Given the description of an element on the screen output the (x, y) to click on. 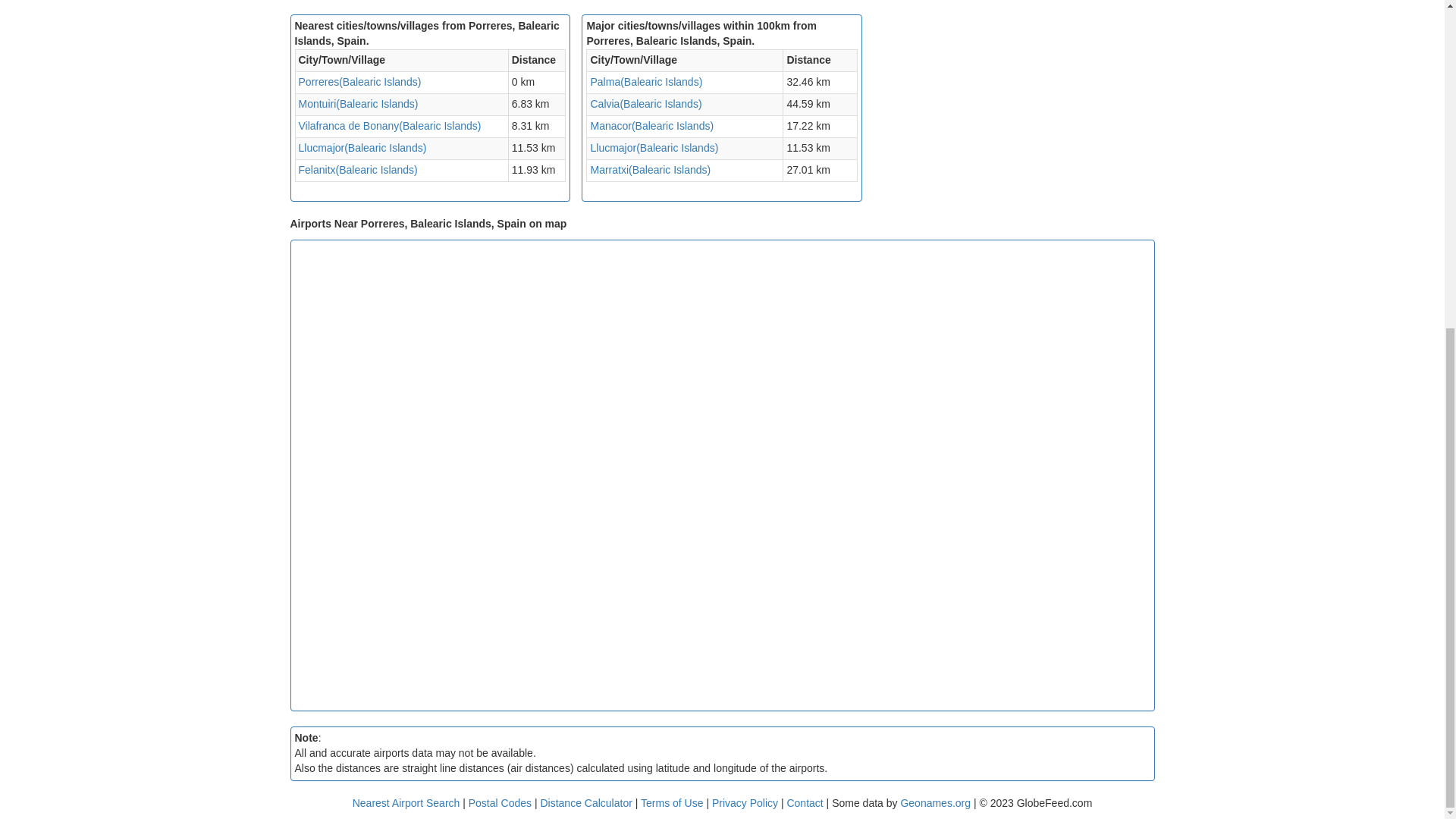
Airports near Montuiri, Balearic Islands, Spain (358, 103)
Privacy Policy (745, 802)
Airports near Palma, Balearic Islands, Spain (645, 81)
Airports near Manacor, Balearic Islands, Spain (651, 125)
Airports near Porreres, Balearic Islands, Spain (360, 81)
Airports near Llucmajor, Balearic Islands, Spain (653, 147)
Nearest Airport Search (406, 802)
Airports near Vilafranca de Bonany, Balearic Islands, Spain (389, 125)
Airports near Felanitx, Balearic Islands, Spain (357, 169)
Contact (804, 802)
